Given the description of an element on the screen output the (x, y) to click on. 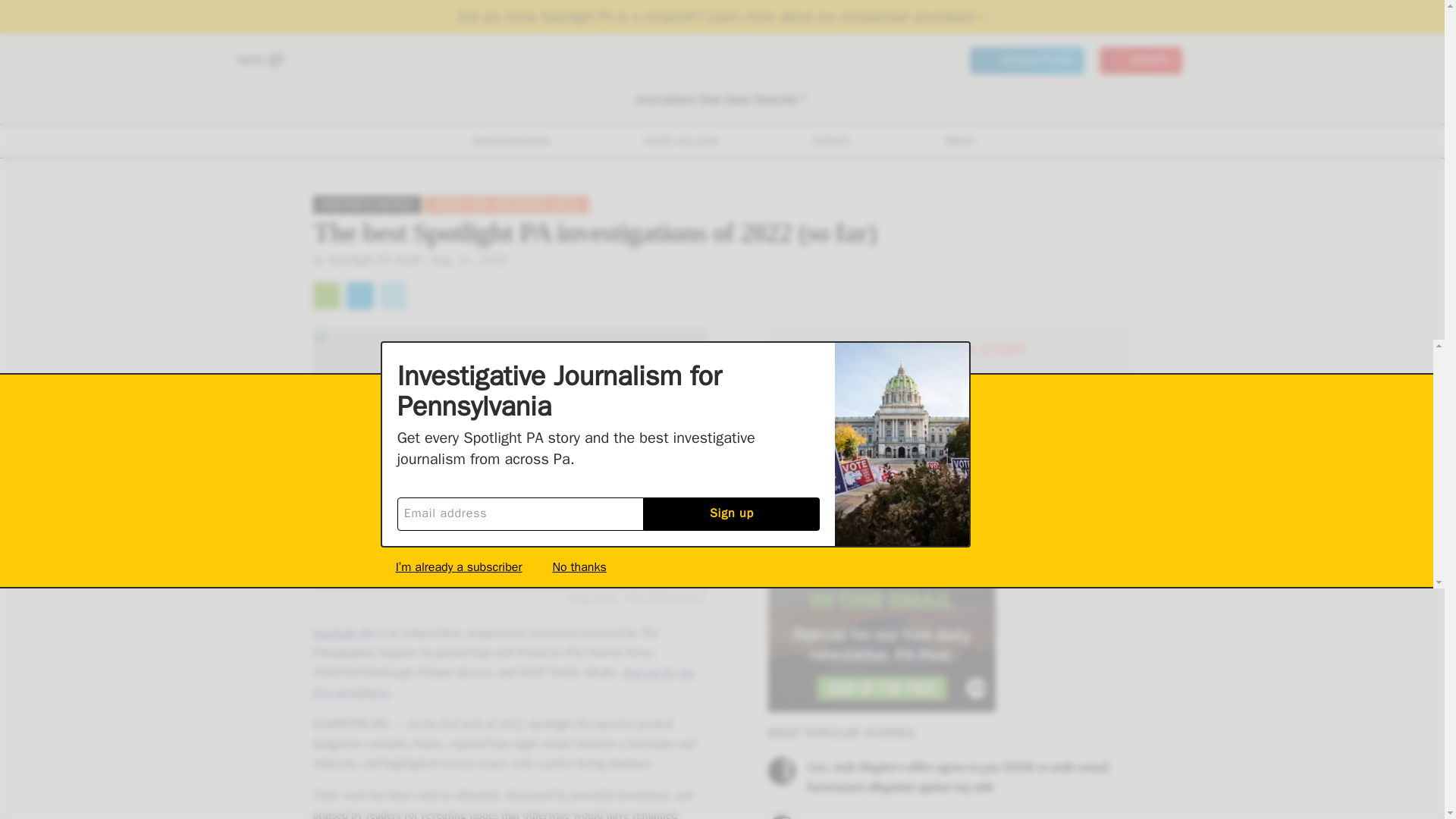
MENU (259, 60)
Share this page by email (326, 295)
Tweet about this page (392, 295)
Share this page on Facebook (359, 295)
